Given the description of an element on the screen output the (x, y) to click on. 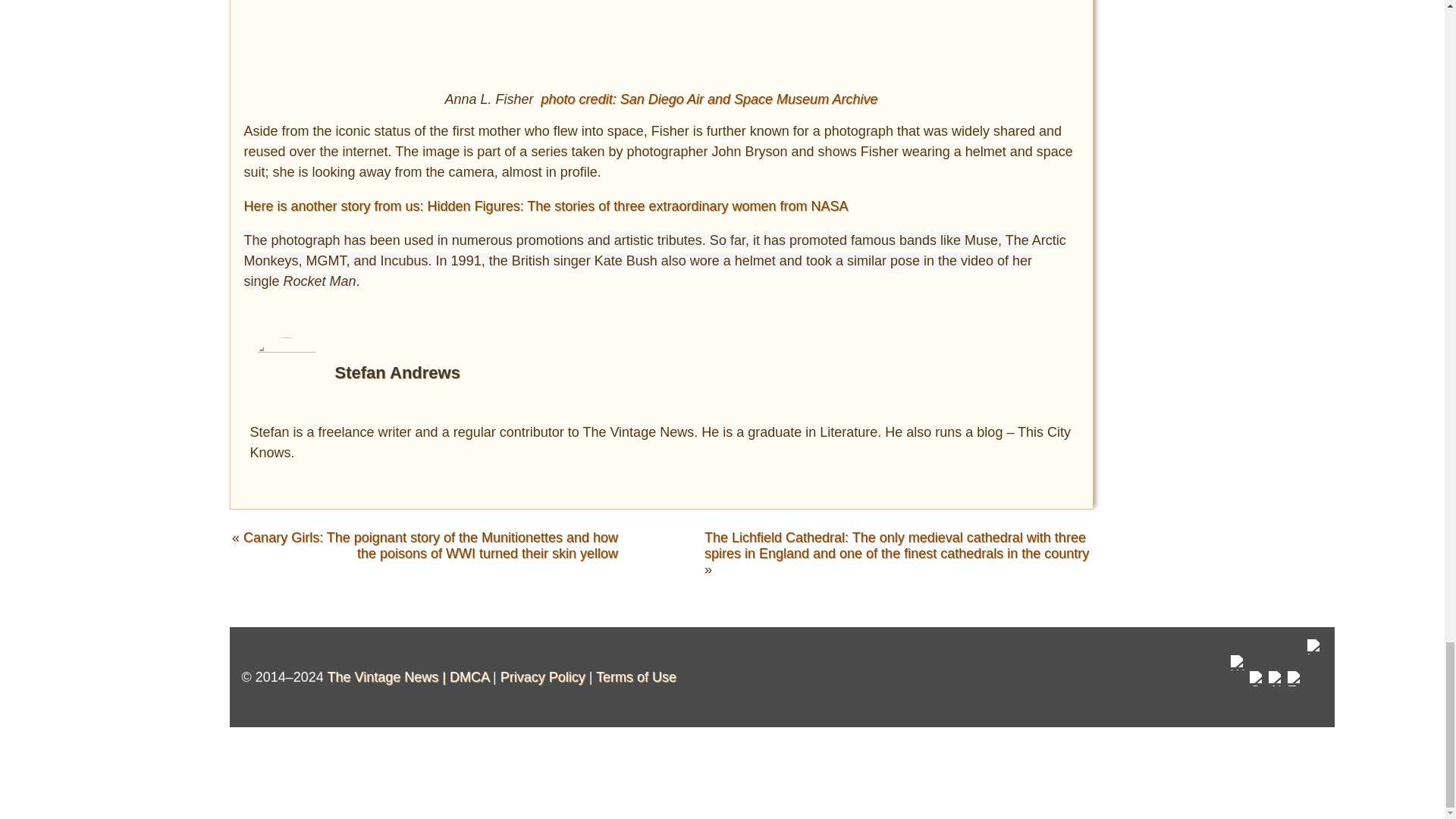
I Love WWII Planes (1314, 676)
Tank Roar (1295, 692)
Abandoned Spaces (1276, 692)
War History Online (1238, 684)
Outdoor Revival (1257, 692)
